Given the description of an element on the screen output the (x, y) to click on. 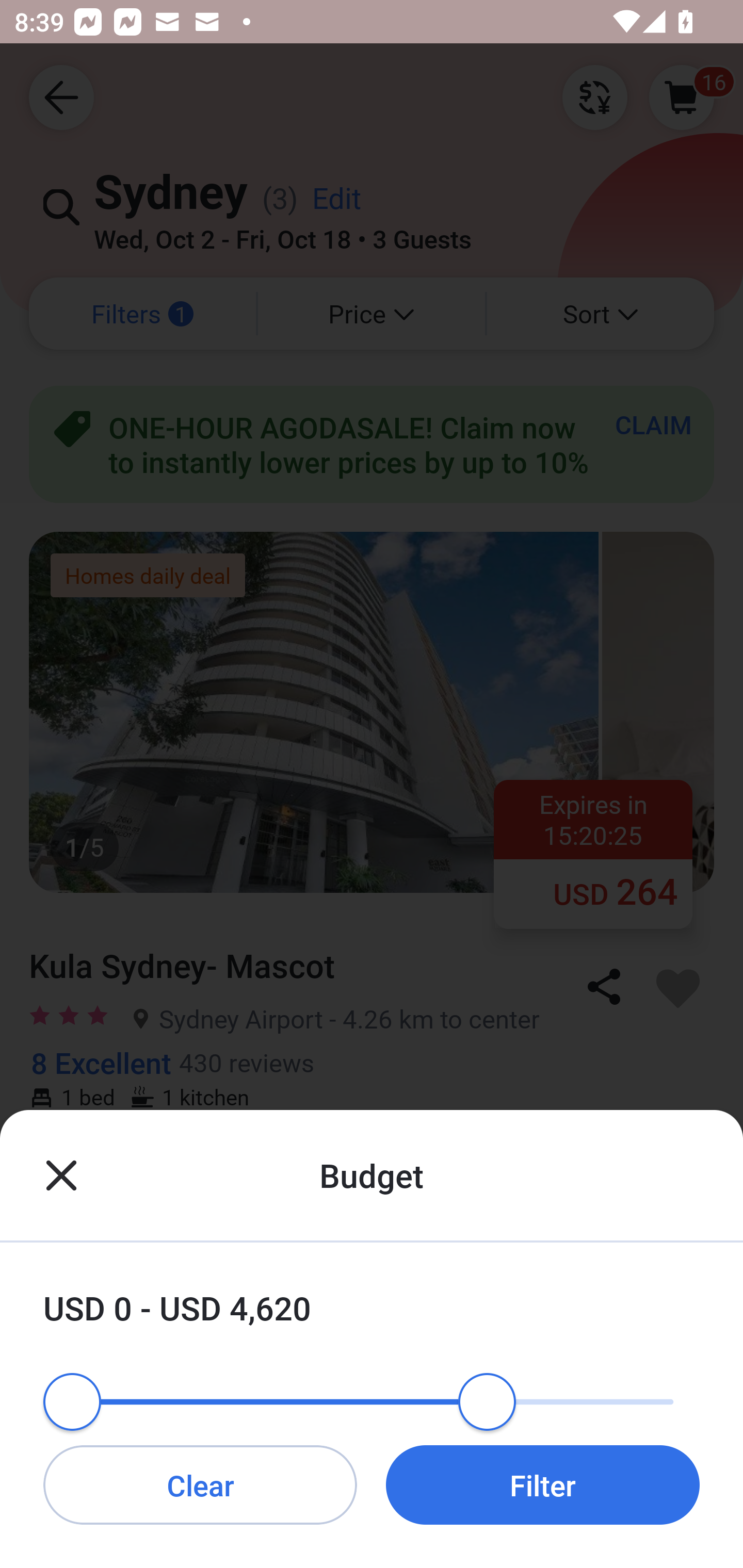
1/5 (371, 1377)
Clear (200, 1484)
Filter (542, 1484)
